Given the description of an element on the screen output the (x, y) to click on. 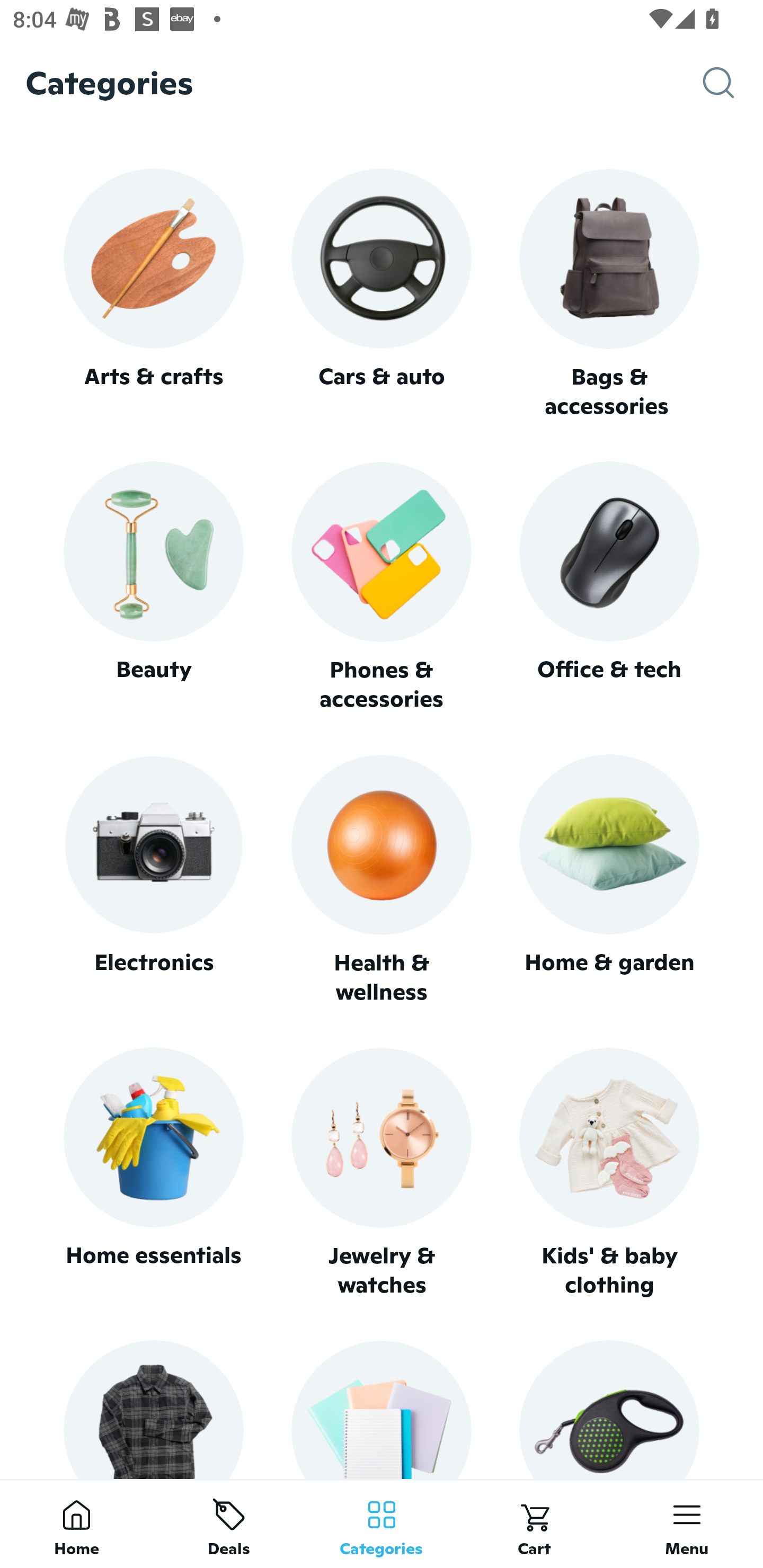
Search (732, 82)
Arts & crafts (153, 293)
Cars & auto (381, 293)
Bags & accessories  (609, 294)
Beauty (153, 586)
Office & tech (609, 586)
Phones & accessories (381, 587)
Electronics (153, 880)
Home & garden (609, 880)
Health & wellness (381, 880)
Home essentials (153, 1172)
Jewelry & watches (381, 1172)
Kids' & baby clothing (609, 1172)
Men's clothing (153, 1409)
Pet supplies (609, 1409)
Office & school supplies (381, 1409)
Home (76, 1523)
Deals (228, 1523)
Categories (381, 1523)
Cart (533, 1523)
Menu (686, 1523)
